Given the description of an element on the screen output the (x, y) to click on. 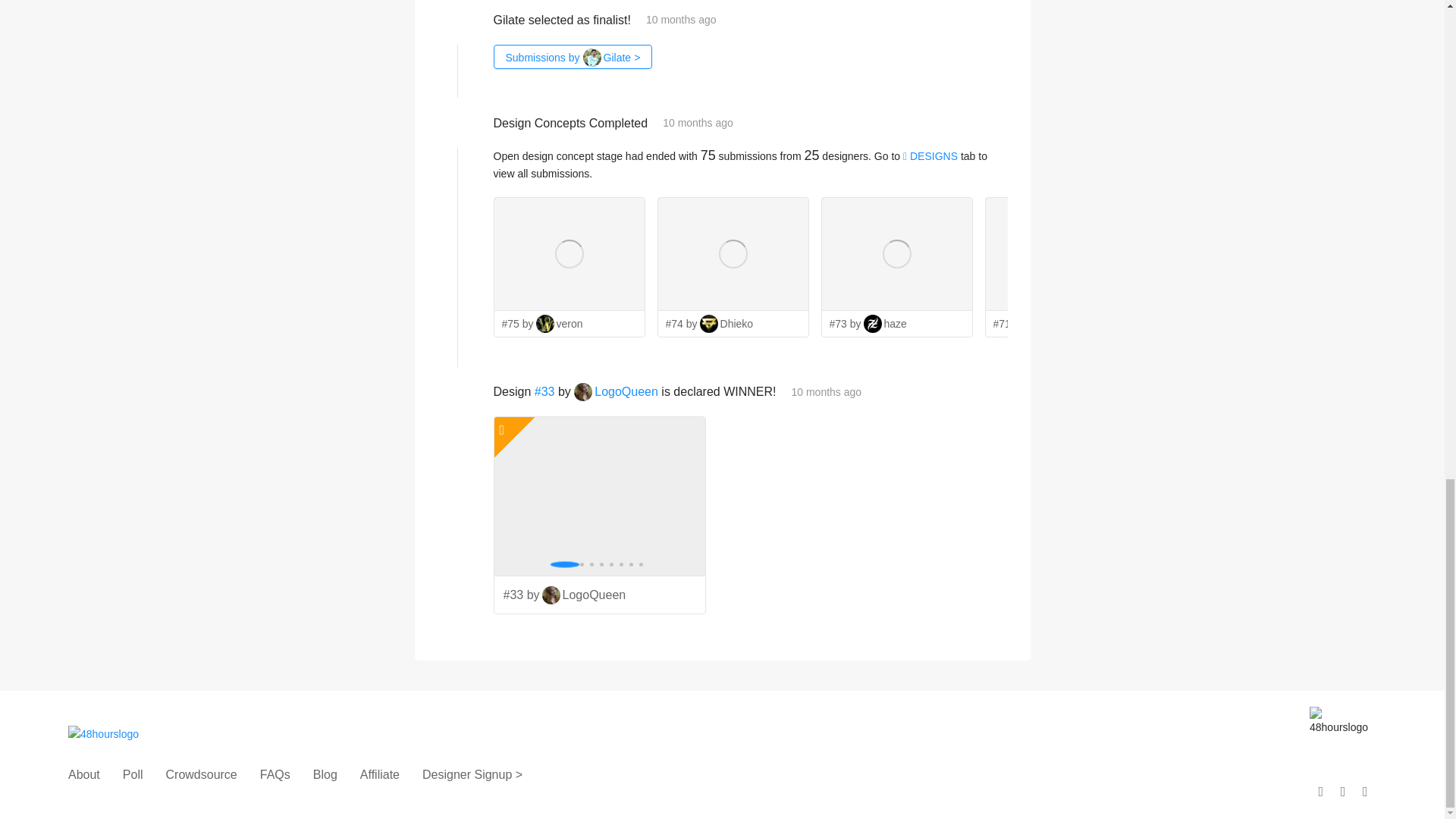
subrata (1055, 323)
1 (1214, 298)
veron (559, 323)
Kir (1207, 323)
Dhieko (727, 323)
DESIGNS (930, 155)
sheilavalencia (1398, 323)
haze (885, 323)
